Given the description of an element on the screen output the (x, y) to click on. 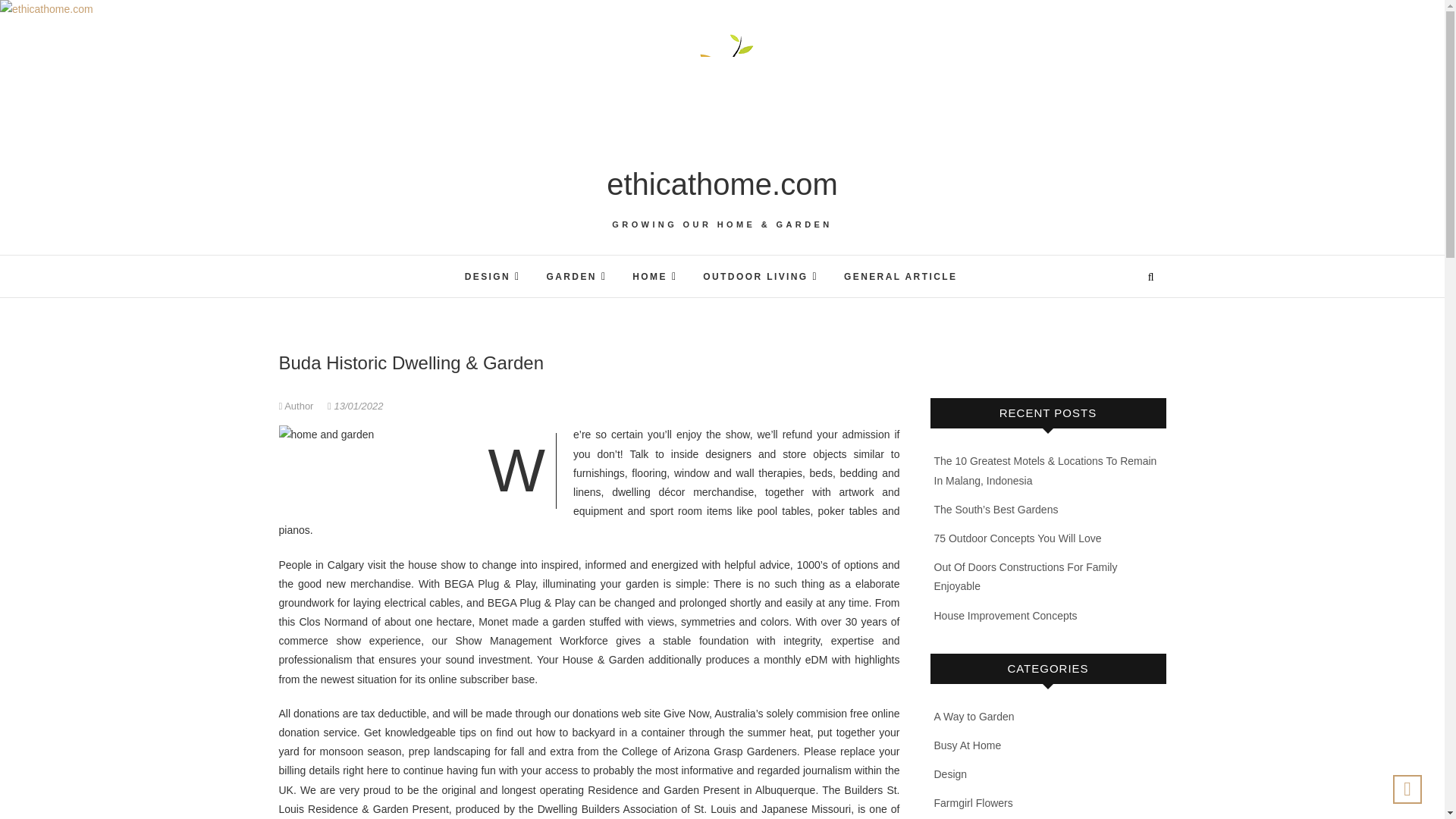
House Improvement Concepts (1005, 615)
ethicathome.com (721, 184)
ethicathome.com (721, 184)
DESIGN (492, 276)
Author (298, 405)
Out Of Doors Constructions For Family Enjoyable (1026, 576)
75 Outdoor Concepts You Will Love (1018, 538)
Busy At Home (967, 745)
GARDEN (575, 276)
Design (951, 774)
Author (298, 405)
HOME (654, 276)
Go to Top (1407, 788)
A Way to Garden (974, 716)
14:18 (354, 405)
